Given the description of an element on the screen output the (x, y) to click on. 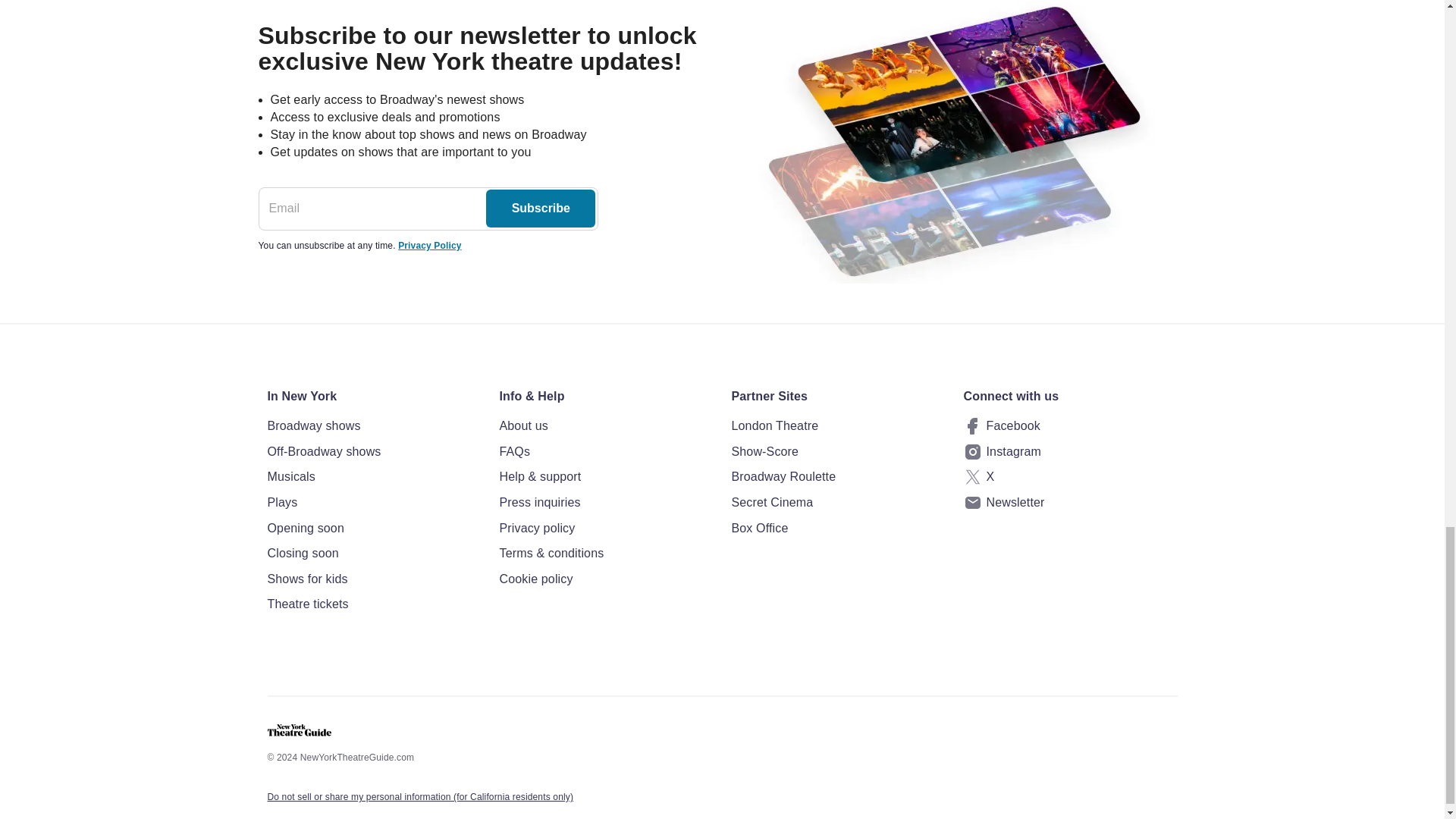
Opening soon (373, 528)
Plays (373, 502)
Musicals (373, 476)
Broadway shows (373, 425)
Off-Broadway shows (373, 451)
Shows for kids (373, 578)
Closing soon (373, 553)
